Given the description of an element on the screen output the (x, y) to click on. 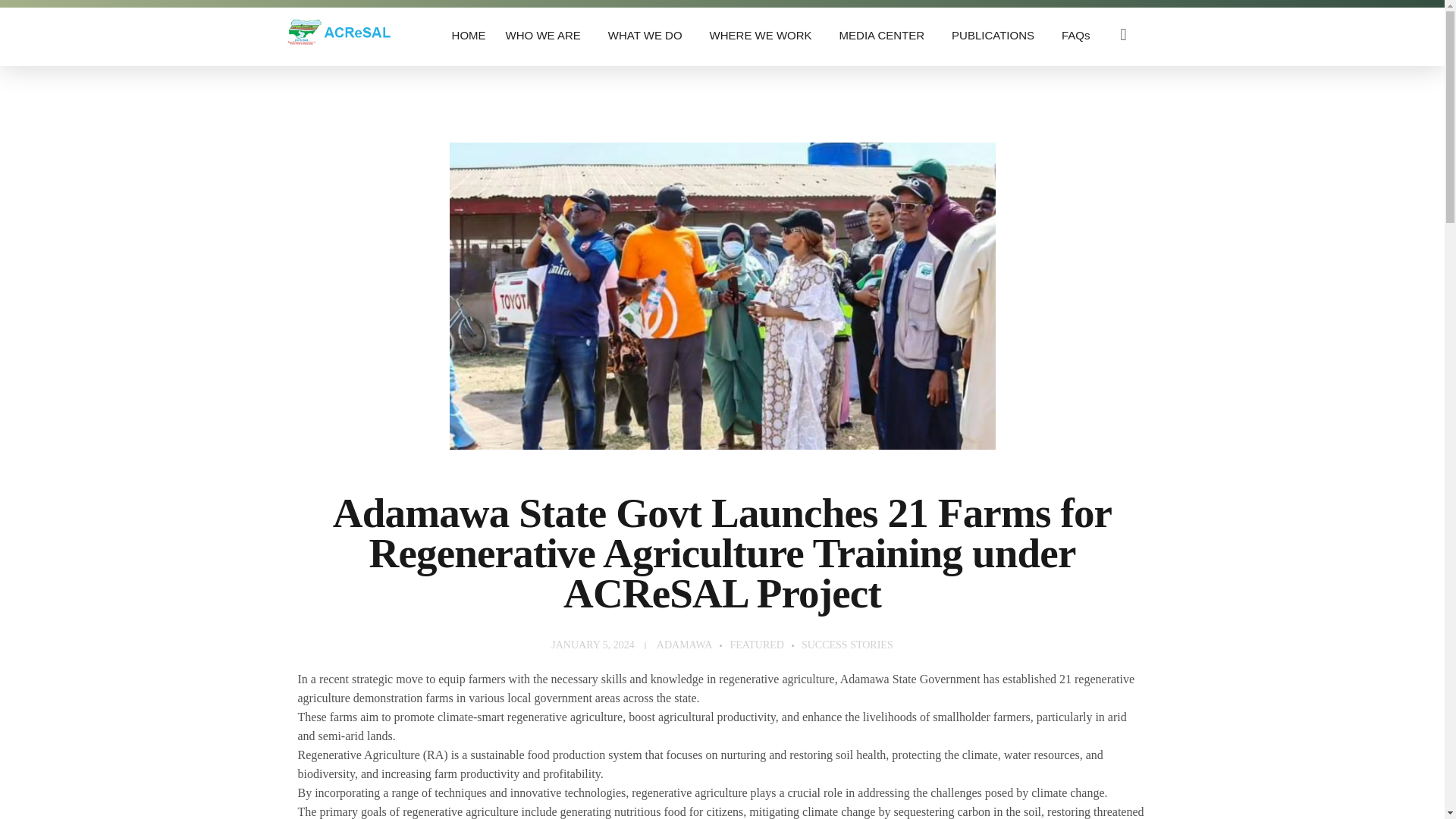
View all posts in Featured (765, 645)
View all posts in Success Stories (847, 645)
WHERE WE WORK (764, 35)
HOME (468, 35)
View all posts in Adamawa (693, 645)
WHO WE ARE (546, 35)
WHAT WE DO (648, 35)
